Given the description of an element on the screen output the (x, y) to click on. 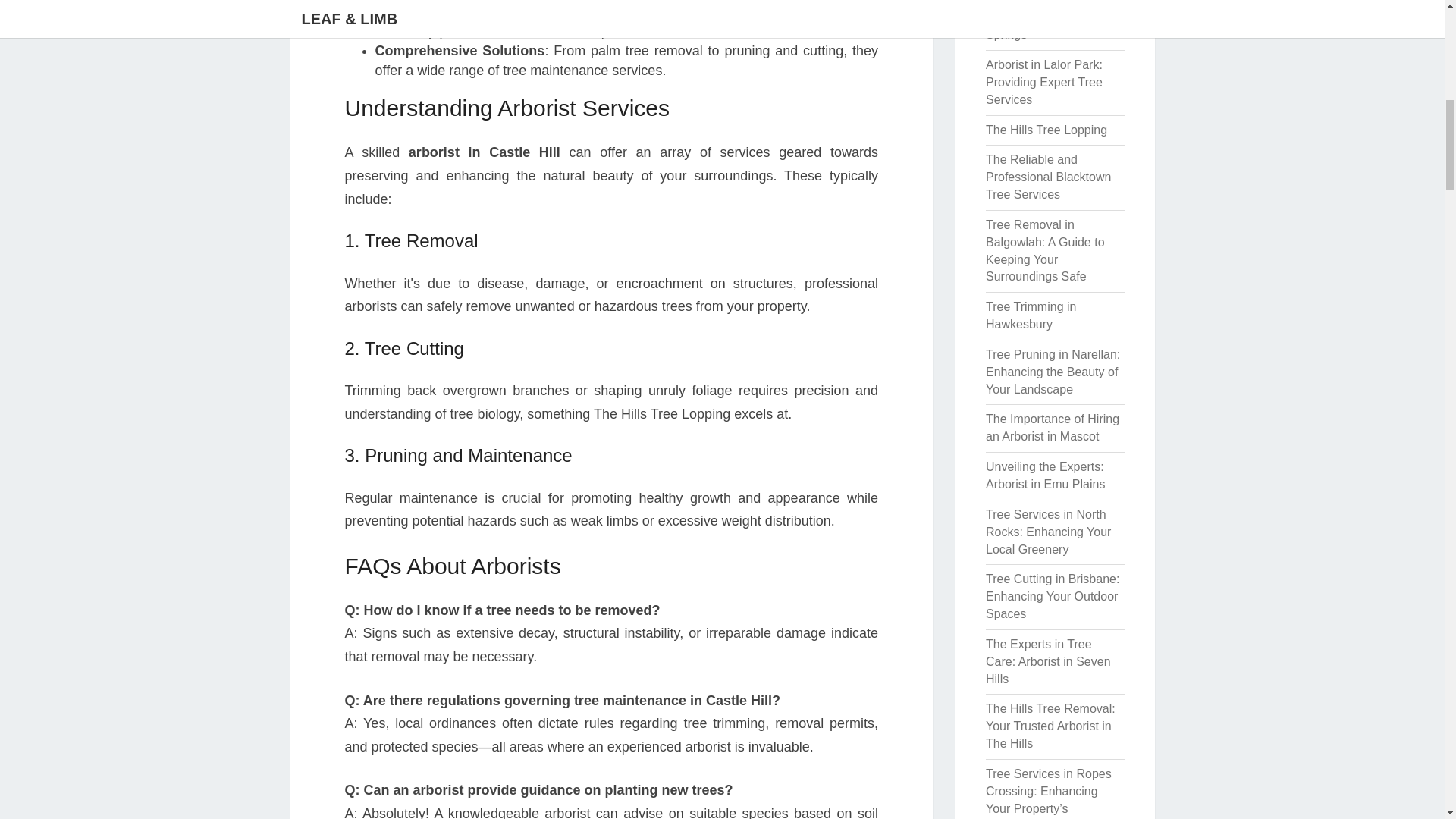
The Reliable and Professional Blacktown Tree Services (1047, 176)
Tree Services in North Rocks: Enhancing Your Local Greenery (1047, 531)
Arborist in Lalor Park: Providing Expert Tree Services (1043, 82)
The Experts in Tree Care: Arborist in Seven Hills (1047, 661)
The Hills Tree Removal: Your Trusted Arborist in The Hills (1050, 725)
The Hills Tree Lopping (1045, 129)
The Importance of Hiring an Arborist in Mascot (1052, 427)
Tree Cutting in Brisbane: Enhancing Your Outdoor Spaces (1052, 595)
Tree Services in Jordan Springs (1049, 25)
Tree Trimming in Hawkesbury (1030, 315)
Unveiling the Experts: Arborist in Emu Plains (1045, 475)
